Given the description of an element on the screen output the (x, y) to click on. 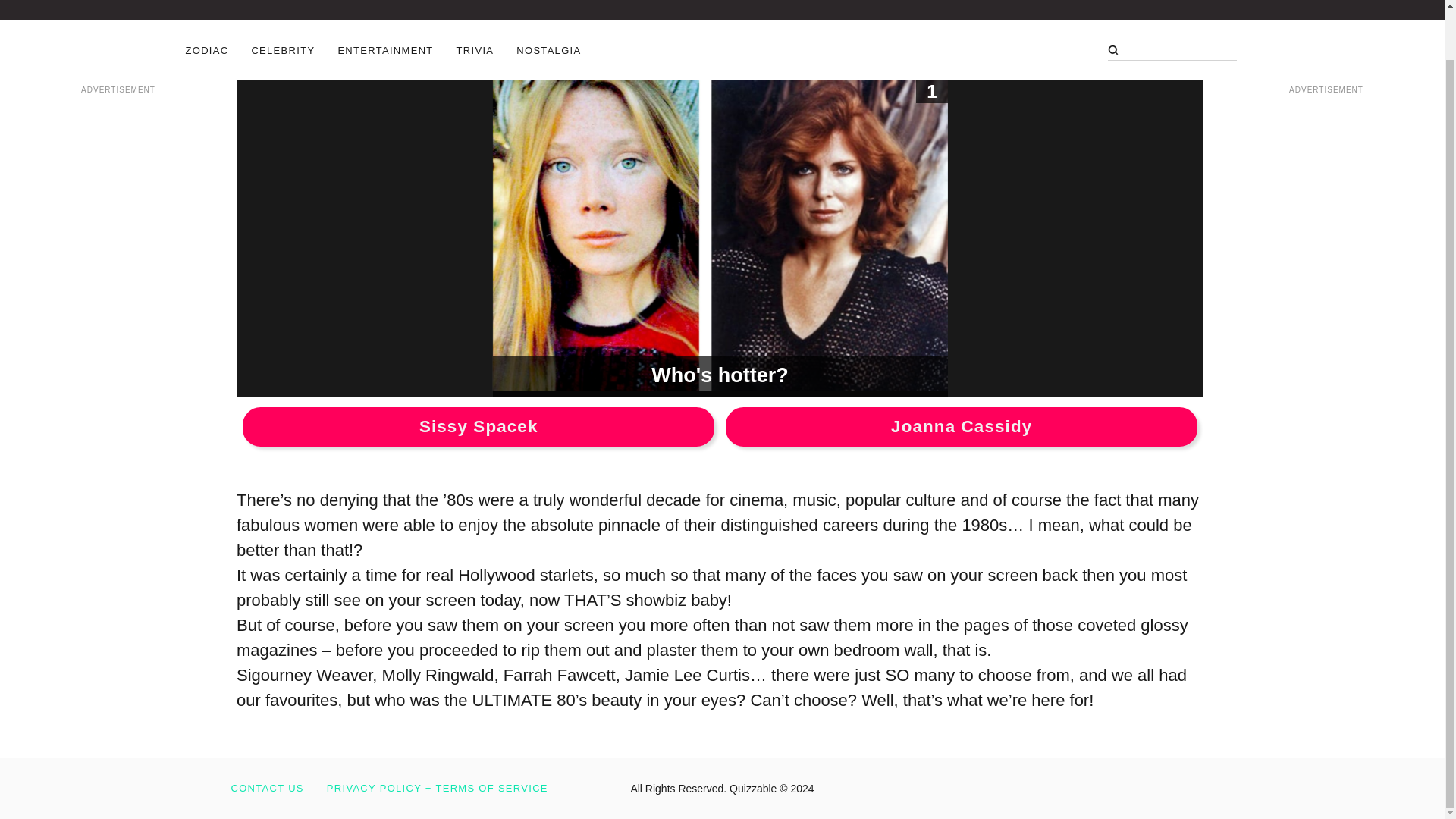
NOSTALGIA (548, 49)
CELEBRITY (282, 49)
ZODIAC (206, 49)
CONTACT US (266, 787)
TRIVIA (476, 49)
ENTERTAINMENT (384, 49)
